Given the description of an element on the screen output the (x, y) to click on. 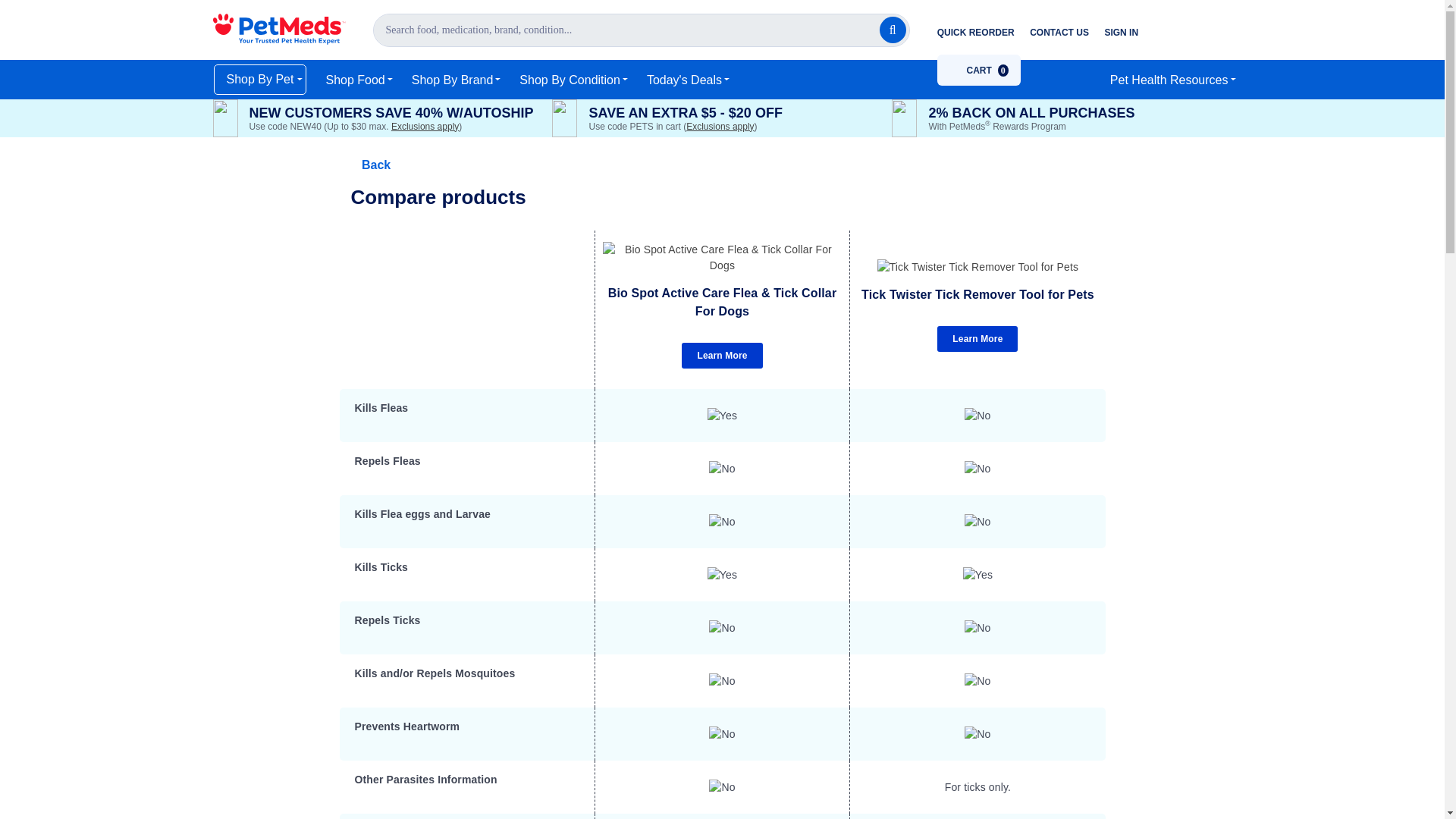
PetMeds Home (278, 26)
CONTACT US (1064, 32)
Shop By Pet (260, 79)
SIGN IN (979, 69)
Cart (1126, 32)
QUICK REORDER (979, 69)
Skip to main content (981, 32)
